Given the description of an element on the screen output the (x, y) to click on. 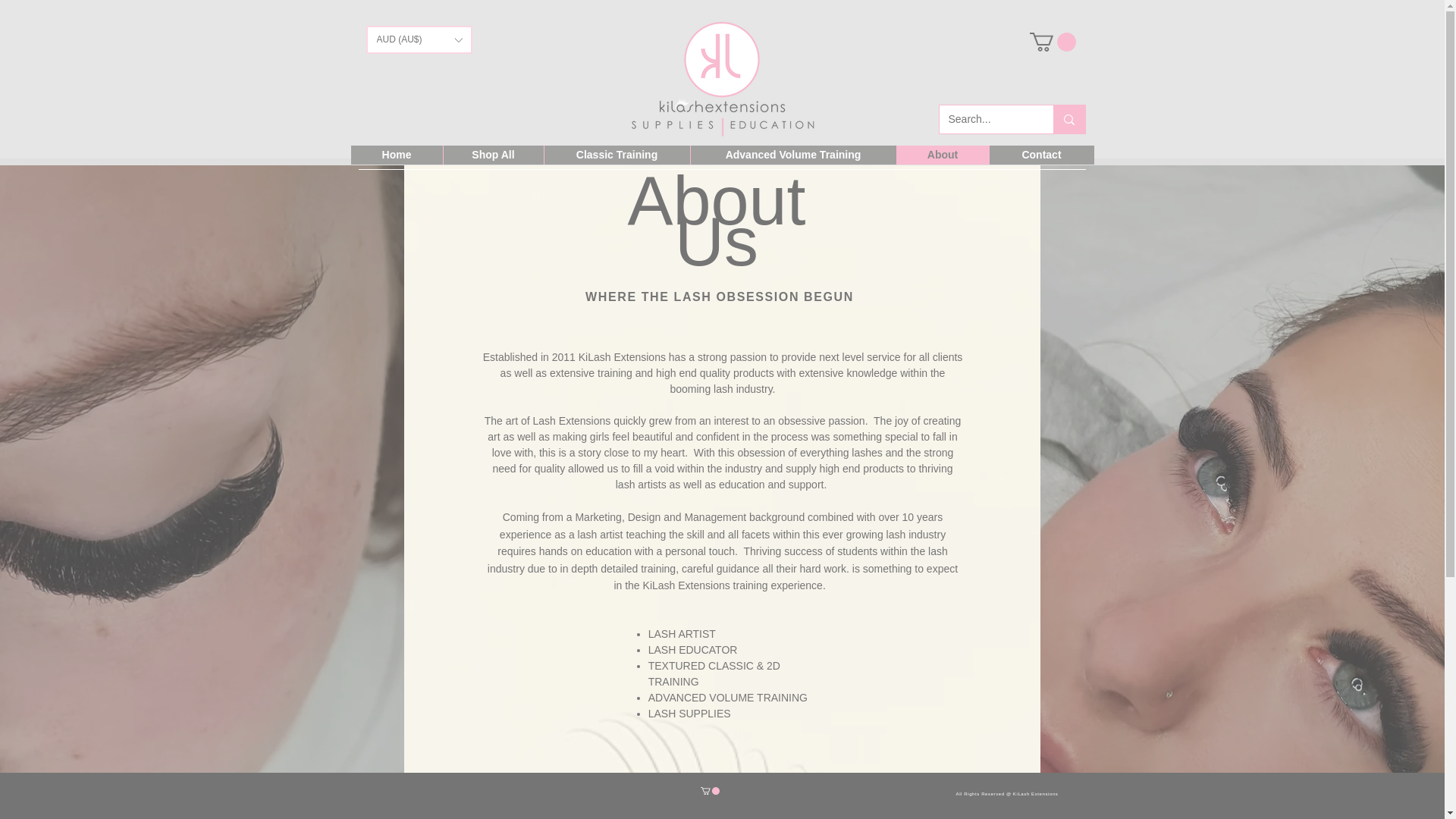
Contact (1041, 154)
Home (396, 154)
Shop All (492, 154)
About (942, 154)
Classic Training (615, 154)
Advanced Volume Training (793, 154)
